Given the description of an element on the screen output the (x, y) to click on. 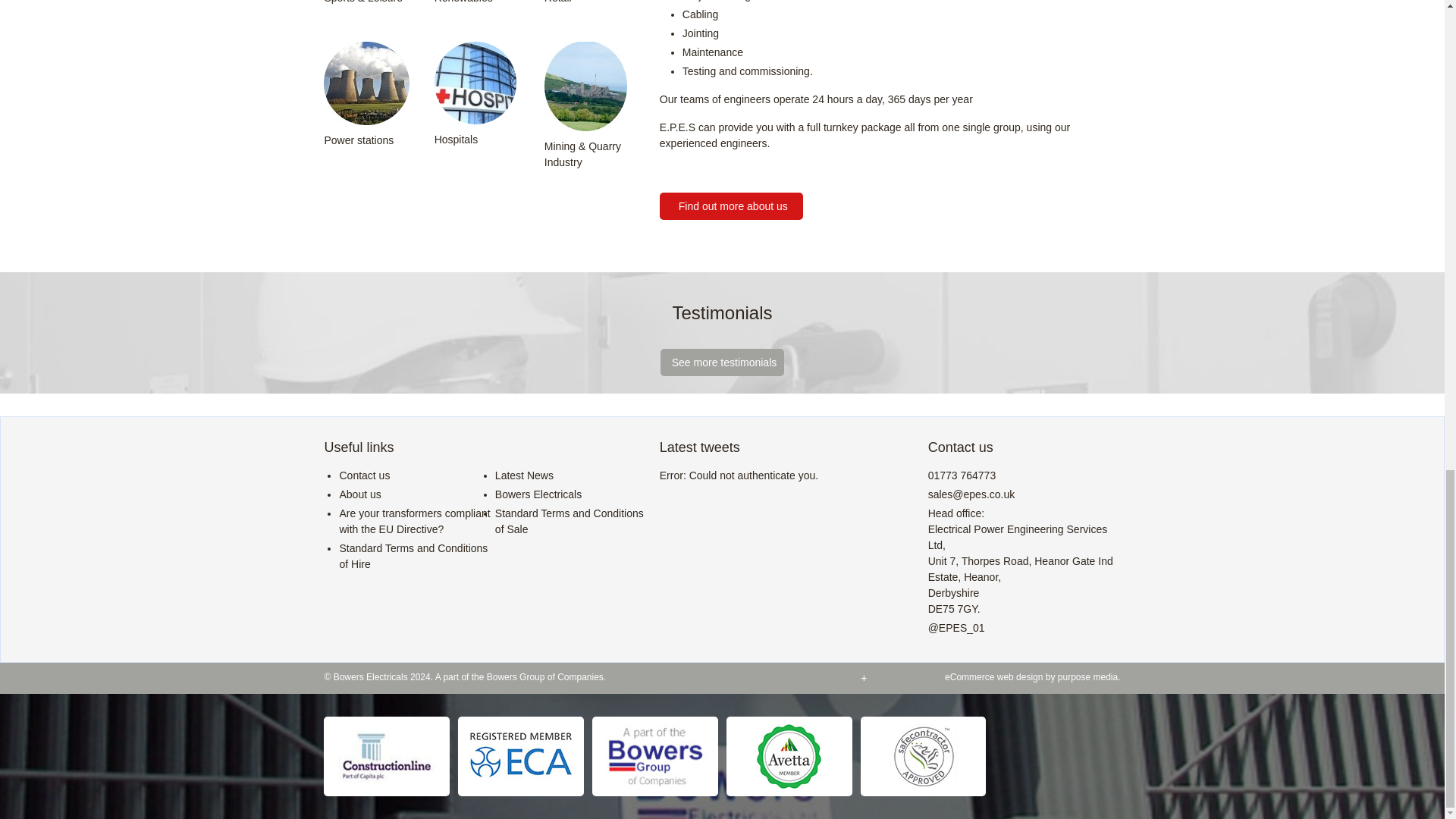
eCommerce web design (1089, 676)
